Given the description of an element on the screen output the (x, y) to click on. 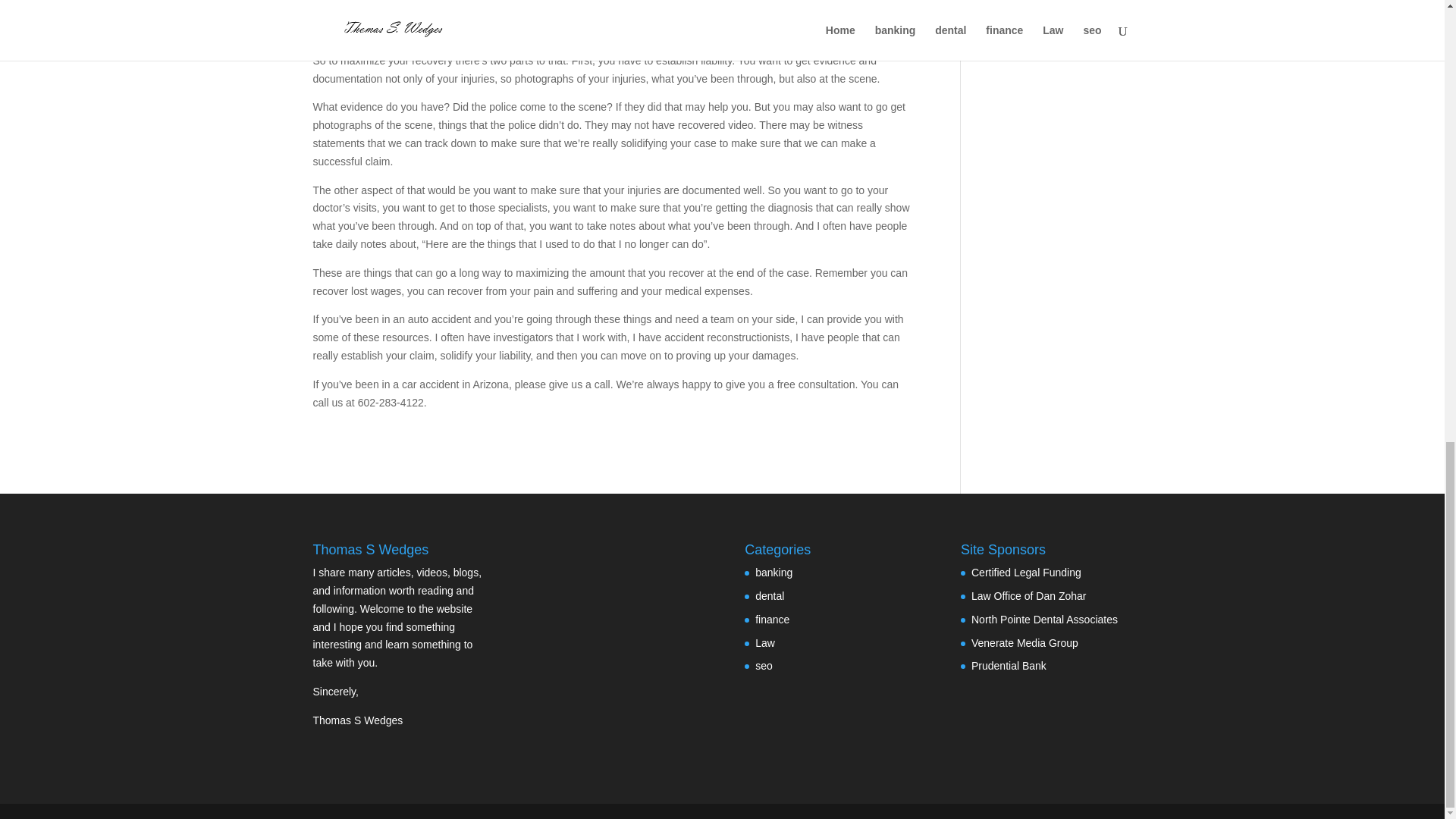
Venerate Media Group (1024, 643)
dental (769, 595)
Tampa Dentist for All Dental needs (1044, 619)
banking (773, 572)
Law Office of Dan Zohar (1028, 595)
Prudential Bank (1008, 665)
Tampa Law Office for Personal Injuries (1028, 595)
North Pointe Dental Associates (1044, 619)
Law (764, 643)
Thomas S Wedges (358, 720)
Pre Settlement Lawsuit loan funding (1026, 572)
Philadelphia Bank (1008, 665)
finance (772, 619)
seo (764, 665)
Digital Marketing Agency (1024, 643)
